Given the description of an element on the screen output the (x, y) to click on. 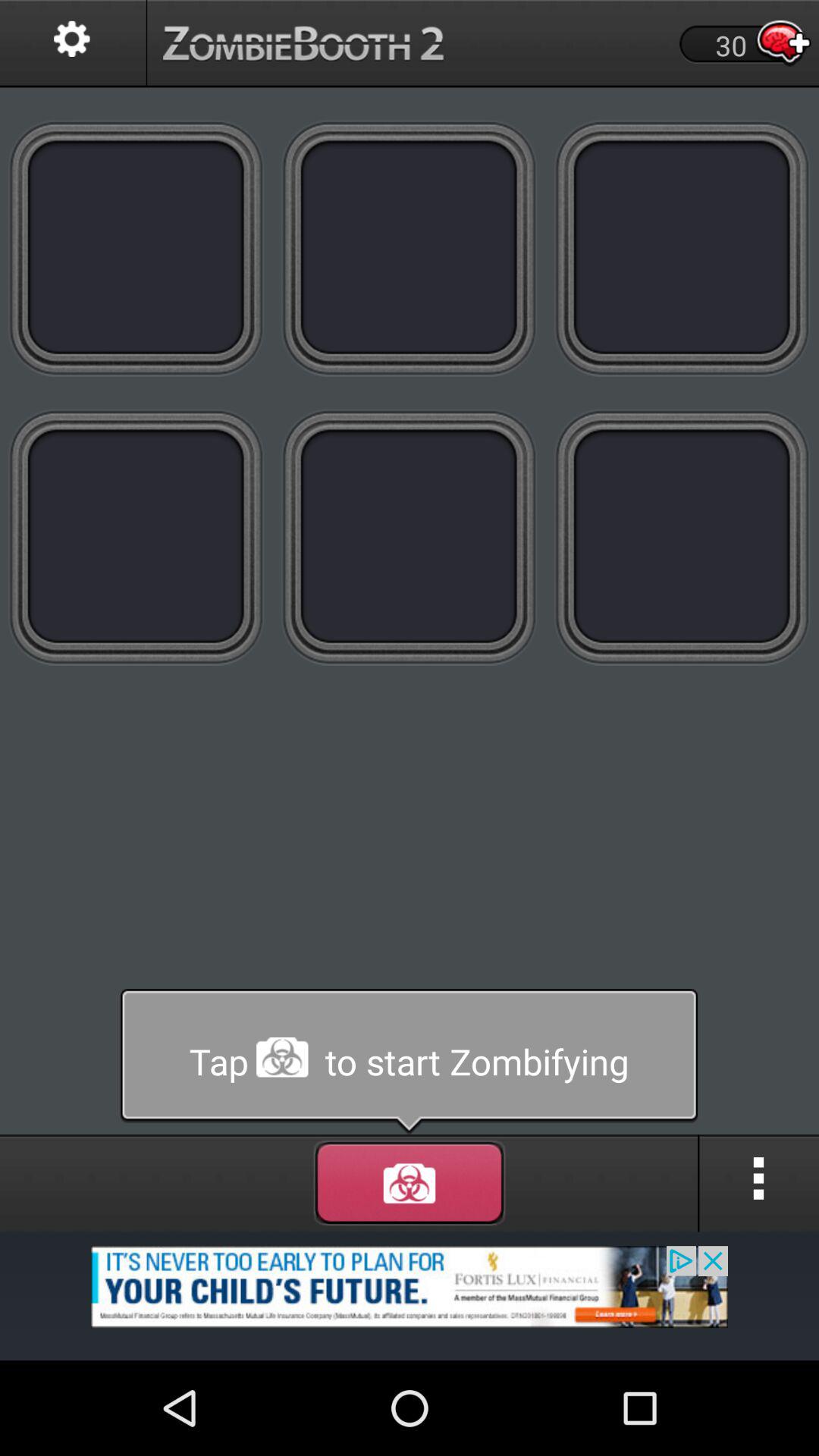
setting page (72, 43)
